Given the description of an element on the screen output the (x, y) to click on. 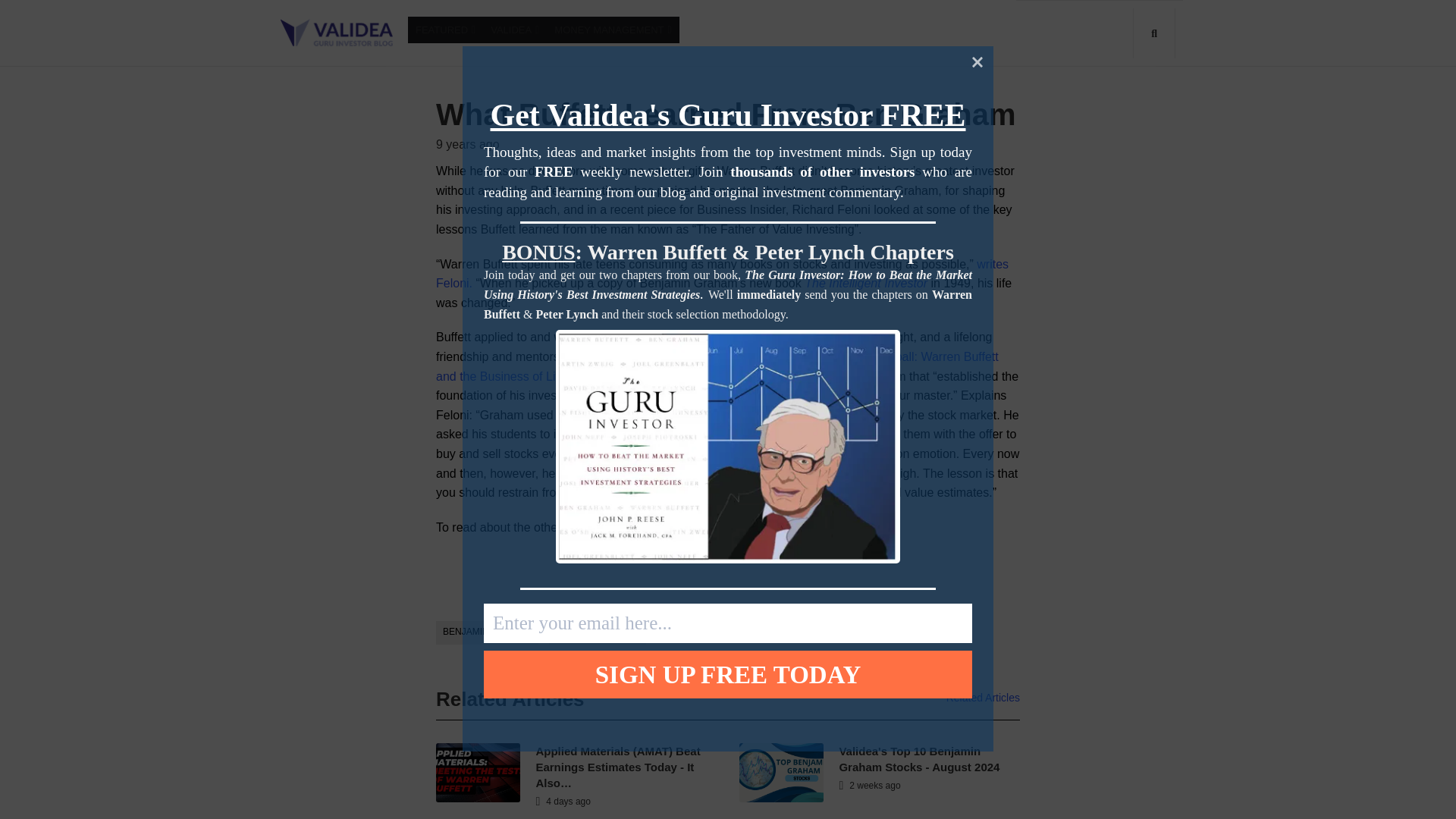
9 years ago (467, 144)
Validea's Top 10 Benjamin Graham Stocks - August 2024 (918, 758)
click here. (661, 526)
VALIDEA (515, 29)
The Intelligent Investor (866, 282)
4 days ago (563, 801)
The Snowball: Warren Buffett and the Business of Life, (716, 366)
Close (977, 61)
2 weeks ago (868, 785)
MONEY MANAGEMENT (612, 29)
